Given the description of an element on the screen output the (x, y) to click on. 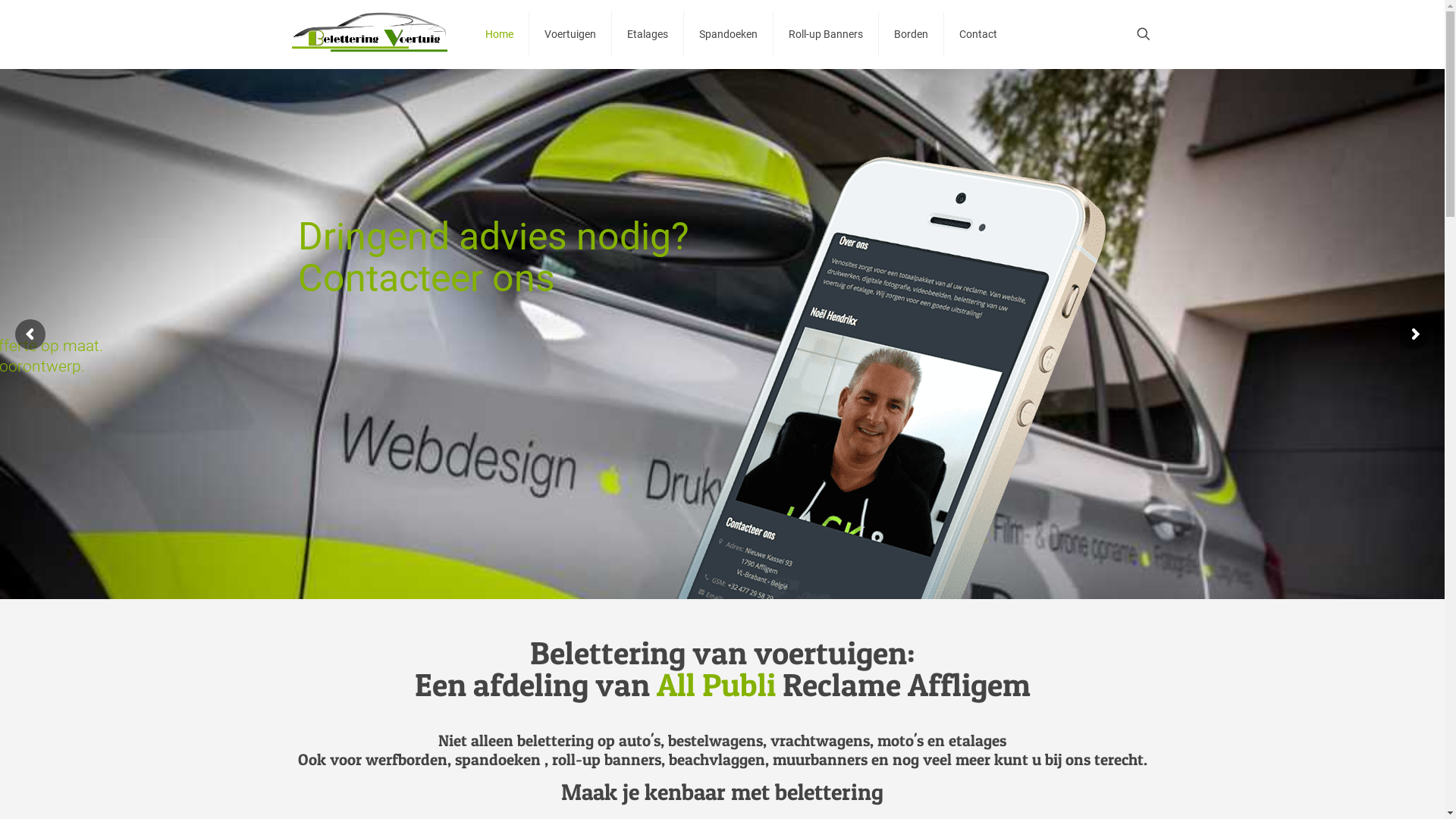
Spandoeken Element type: text (728, 34)
Etalages Element type: text (647, 34)
Roll-up Banners Element type: text (825, 34)
Borden Element type: text (911, 34)
Voertuigen Element type: text (570, 34)
Home Element type: text (499, 34)
Contact Element type: text (978, 34)
Belettering Voertuig Element type: hover (368, 34)
